Given the description of an element on the screen output the (x, y) to click on. 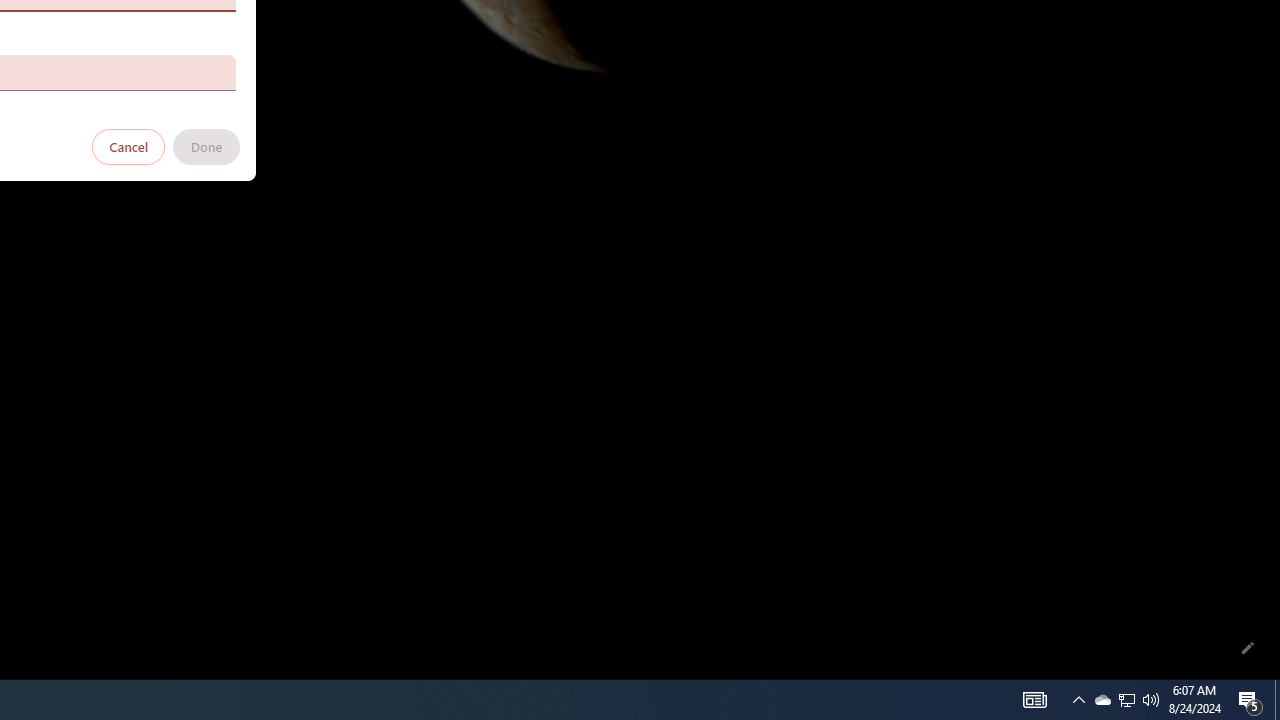
Done (206, 146)
Cancel (129, 146)
